Given the description of an element on the screen output the (x, y) to click on. 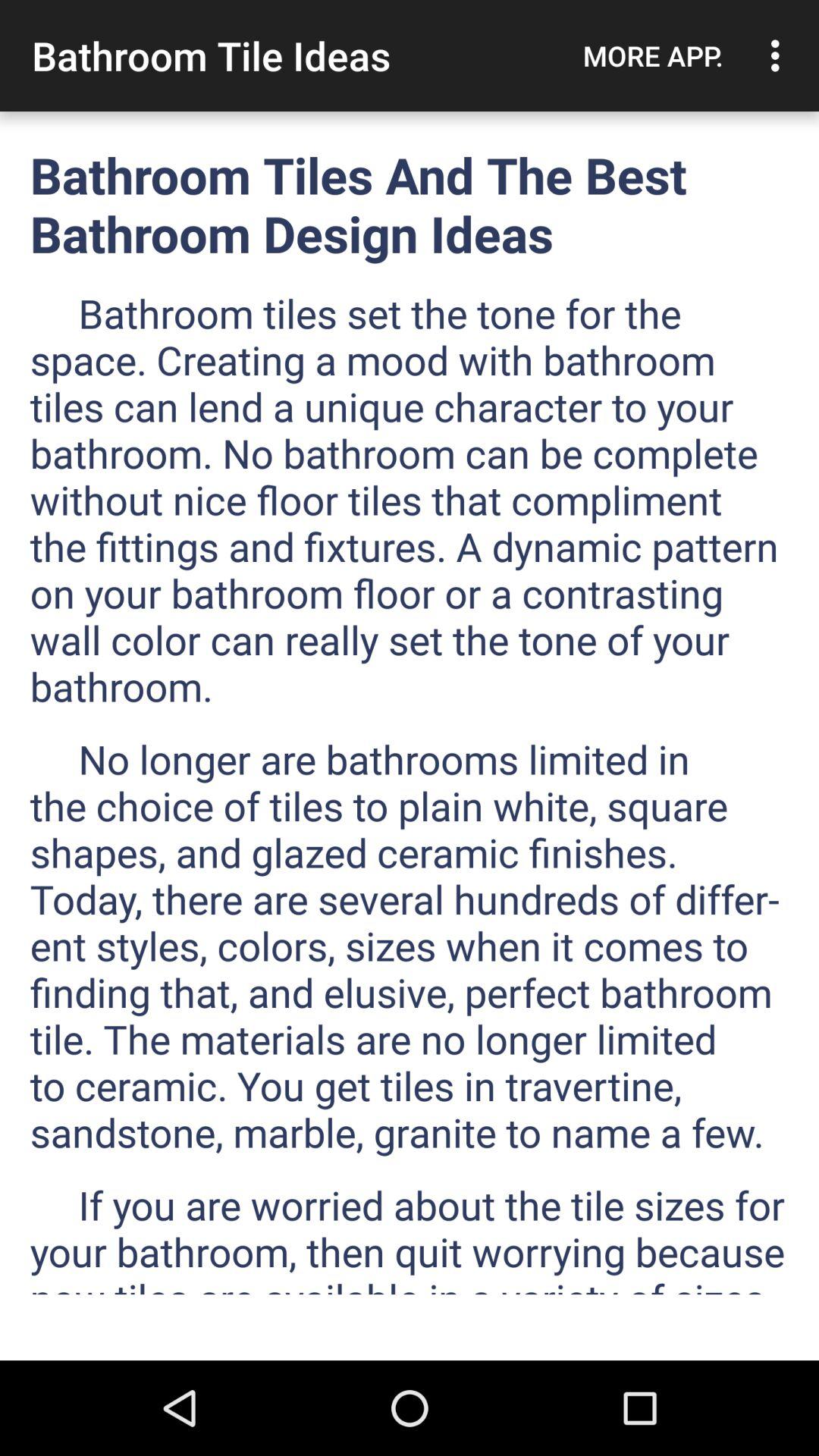
swipe until more app. icon (653, 55)
